Given the description of an element on the screen output the (x, y) to click on. 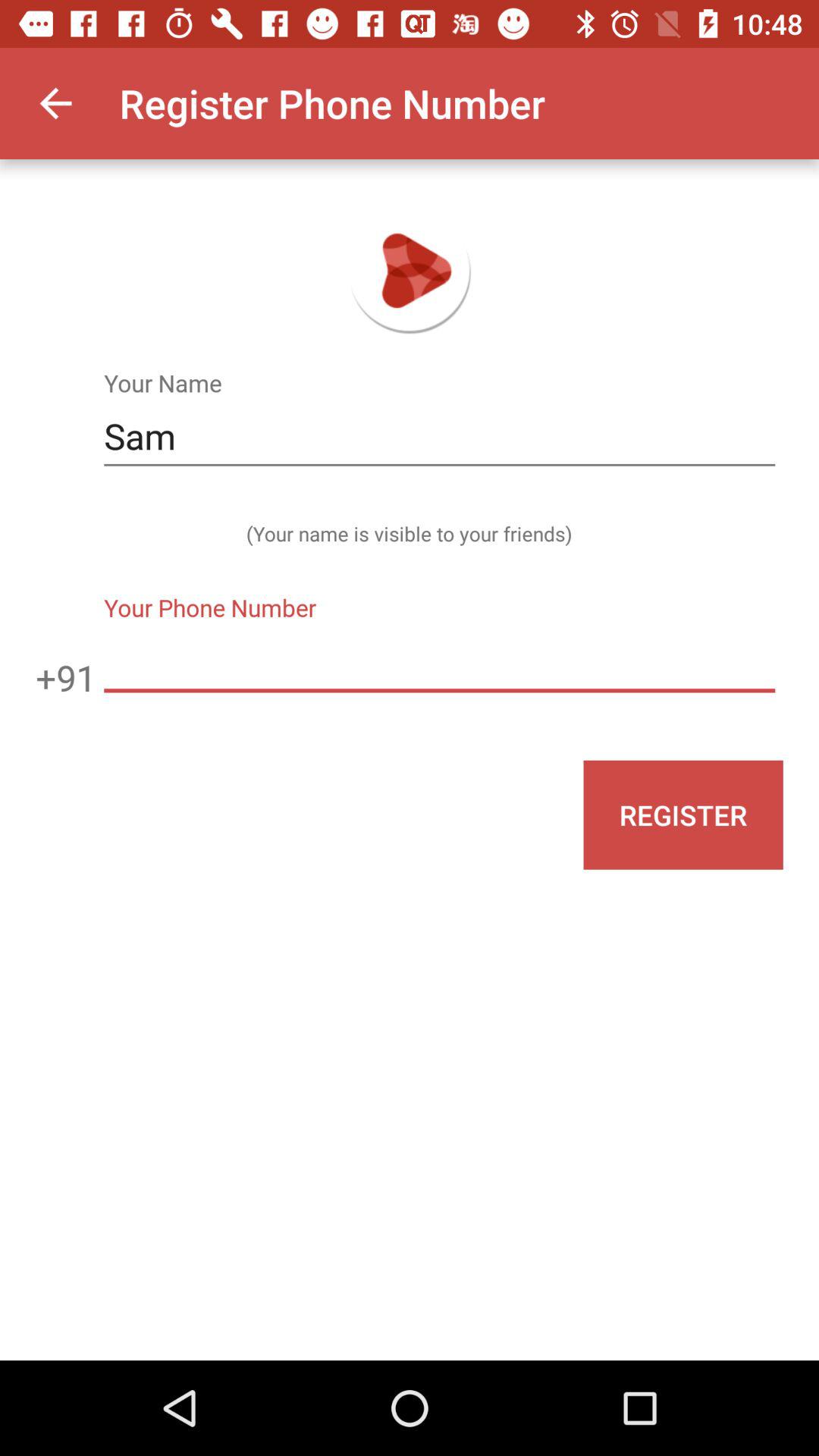
launch icon to the left of register phone number icon (55, 103)
